Given the description of an element on the screen output the (x, y) to click on. 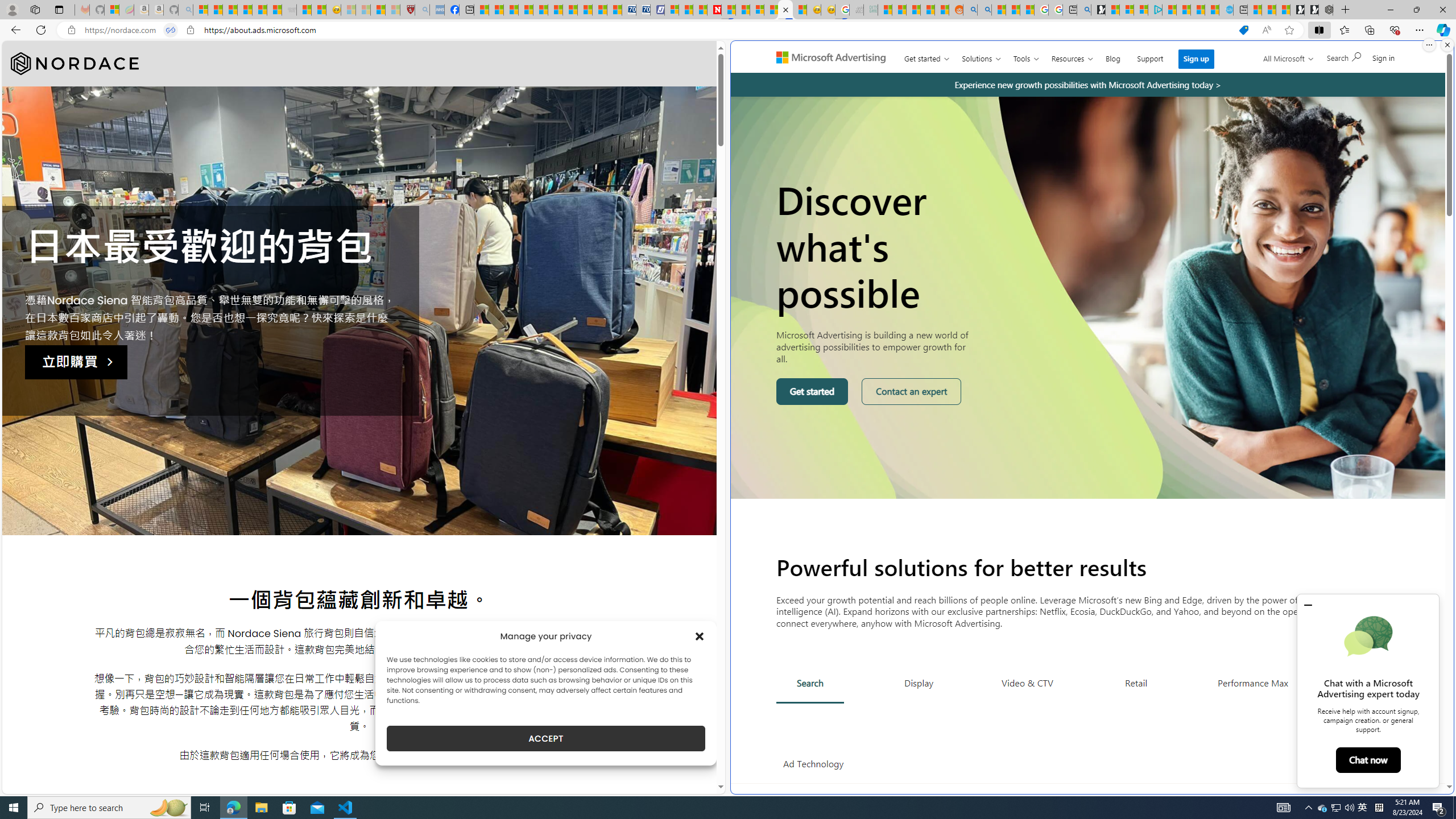
Close split screen. (1447, 45)
More options. (1428, 45)
